Given the description of an element on the screen output the (x, y) to click on. 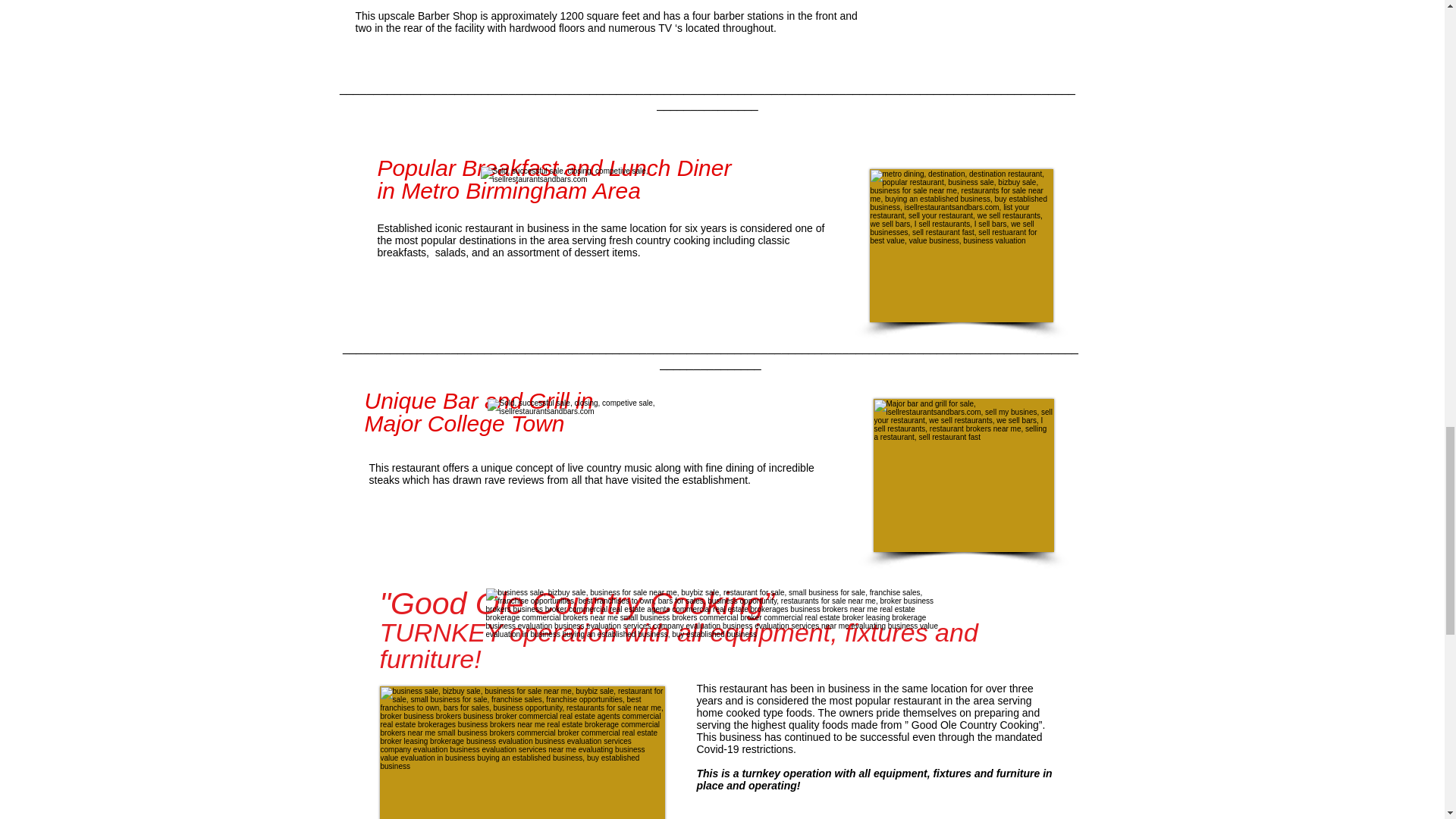
Popular Destinaton Restaurant For Sale (960, 245)
